Given the description of an element on the screen output the (x, y) to click on. 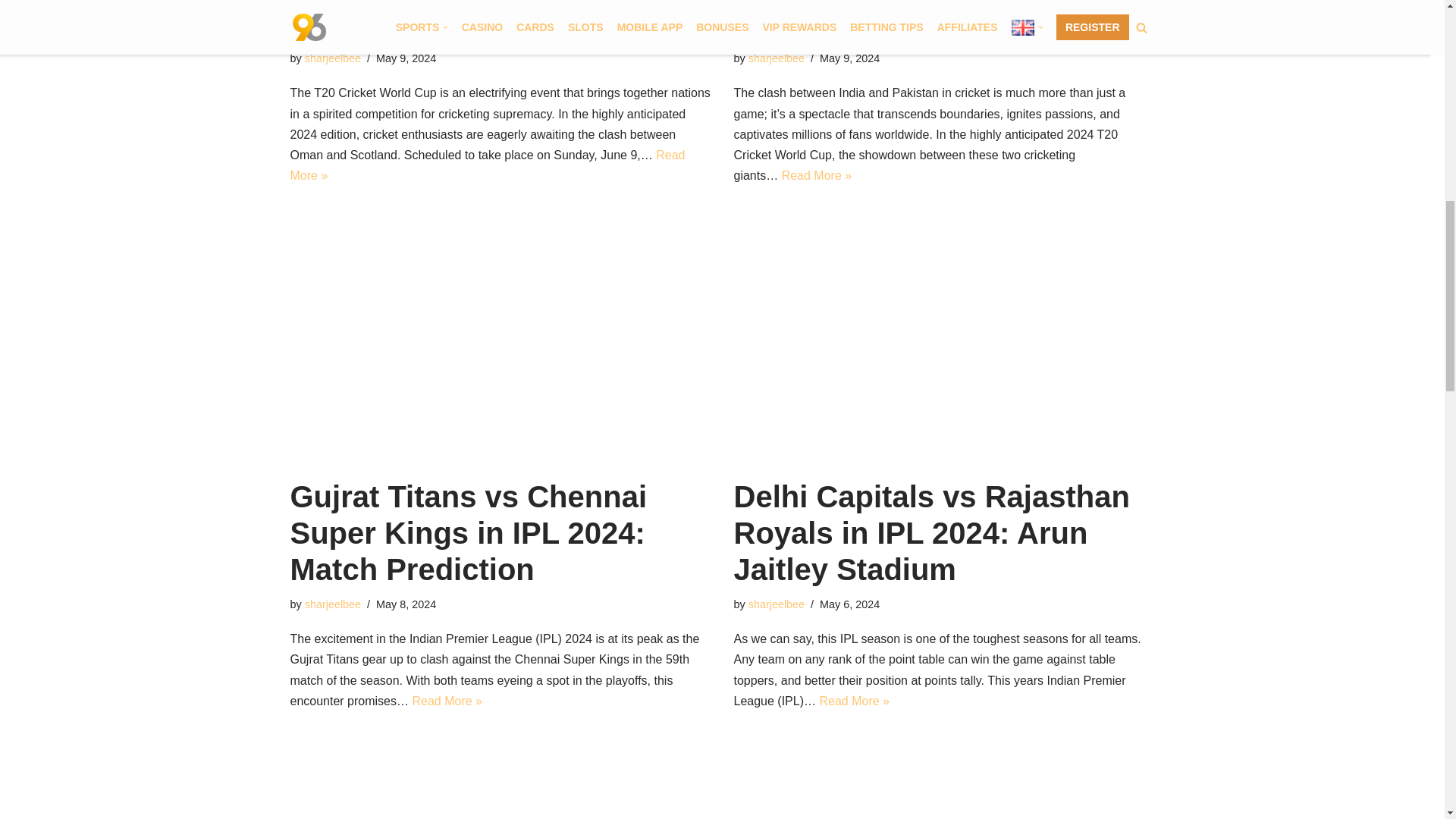
Posts by sharjeelbee (332, 58)
Posts by sharjeelbee (776, 604)
Posts by sharjeelbee (332, 604)
Will MI be able to beat KKR in IPL 2024? (499, 776)
Posts by sharjeelbee (776, 58)
